Given the description of an element on the screen output the (x, y) to click on. 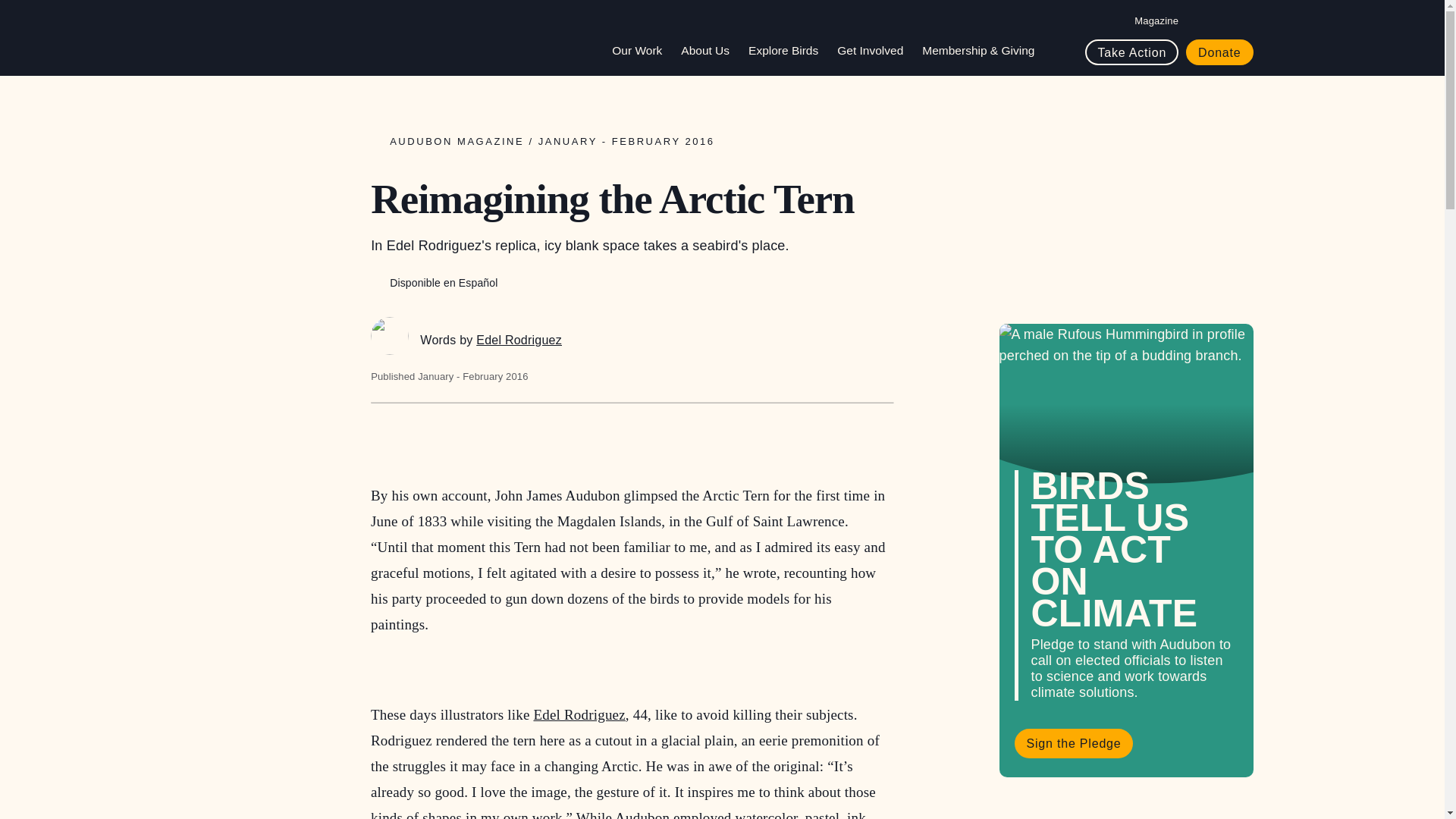
Our Work (641, 50)
Edel Rodriguez (390, 335)
About Us (711, 50)
Explore Birds (788, 50)
Magazine (1155, 20)
Audubon (266, 37)
